Given the description of an element on the screen output the (x, y) to click on. 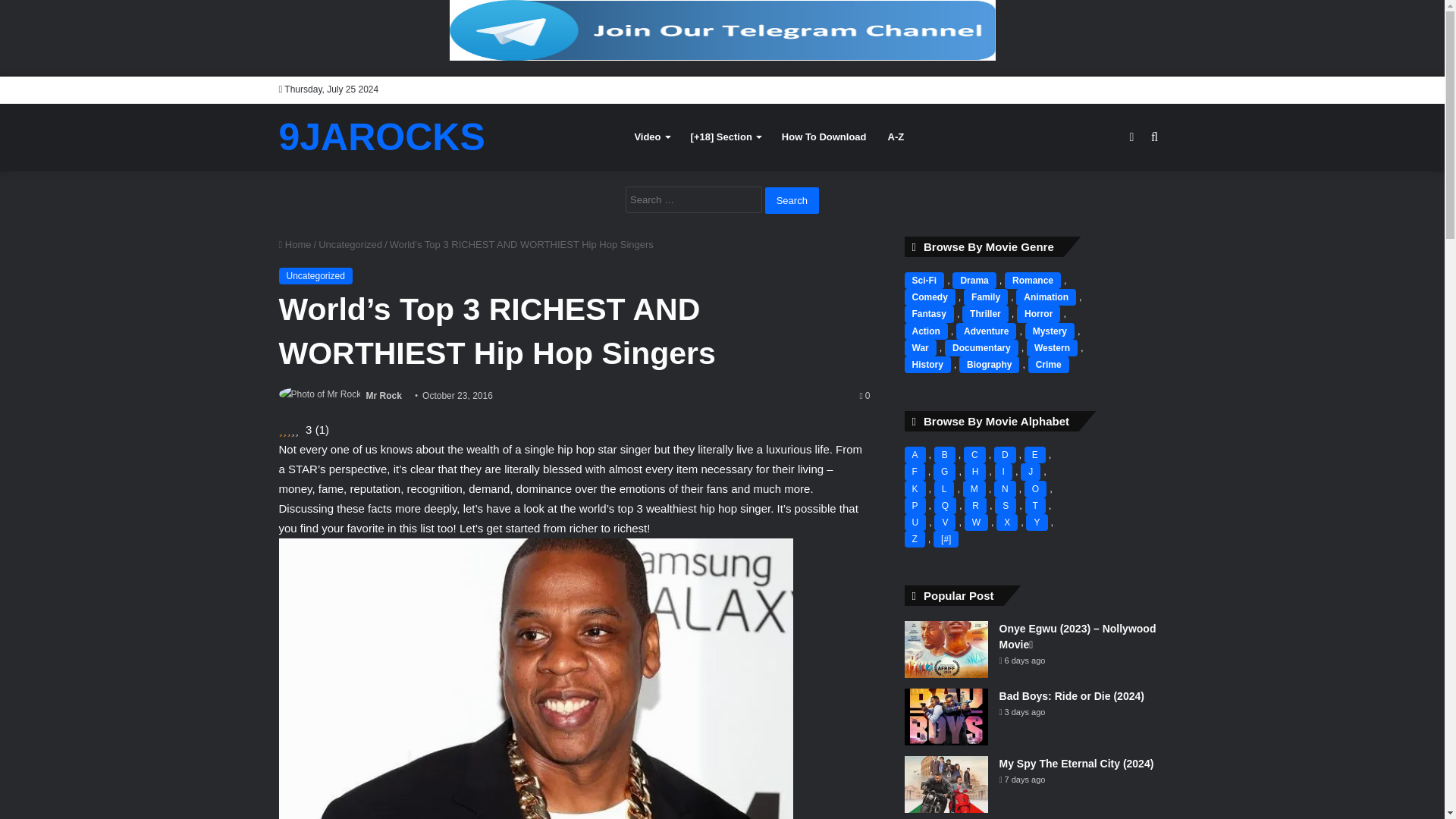
9JAROCKS (381, 136)
9JAROCKS (381, 136)
Uncategorized (349, 244)
Mr Rock (383, 395)
Search (791, 200)
How To Download (824, 136)
Mr Rock (383, 395)
Uncategorized (315, 275)
Home (295, 244)
Search (791, 200)
